Given the description of an element on the screen output the (x, y) to click on. 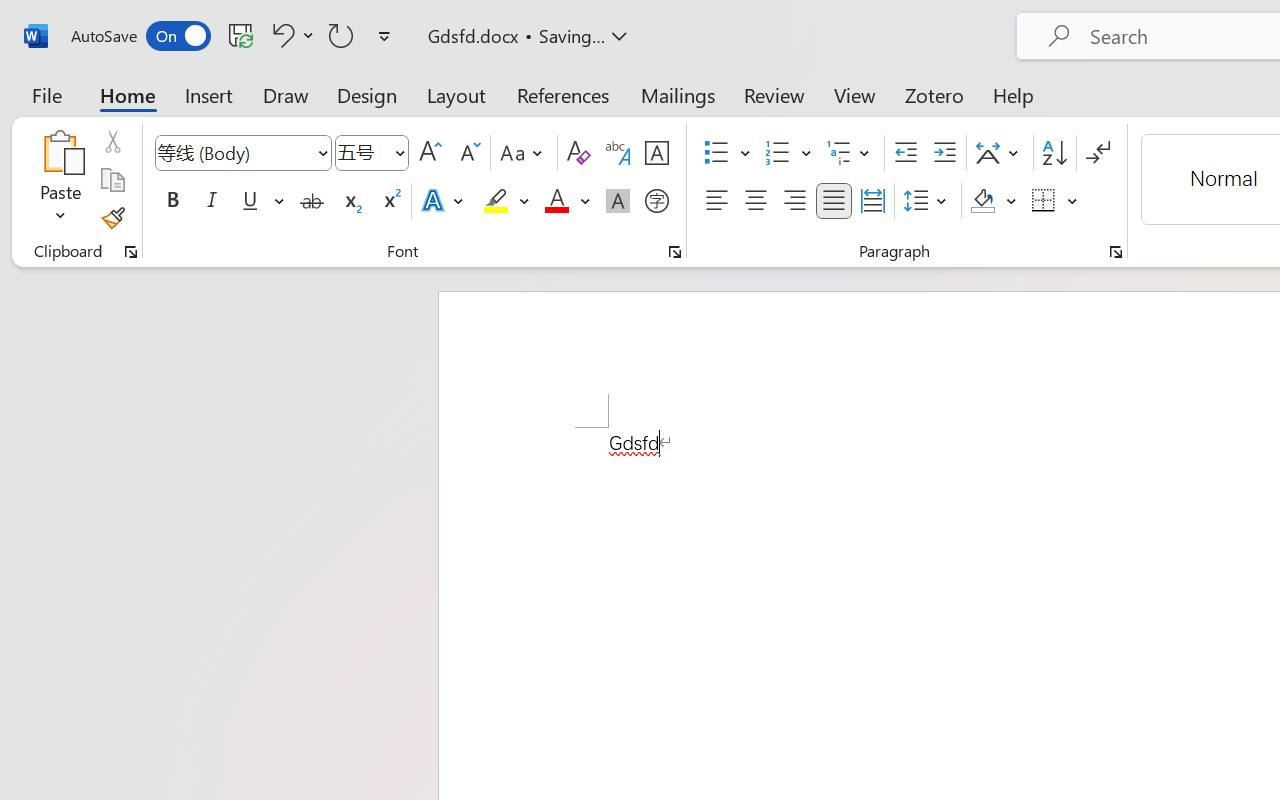
Office Clipboard... (131, 252)
Superscript (390, 201)
Center (756, 201)
Enclose Characters... (656, 201)
Shading (993, 201)
Undo Style (280, 35)
Text Effects and Typography (444, 201)
Increase Indent (944, 153)
Distributed (872, 201)
Subscript (350, 201)
